Given the description of an element on the screen output the (x, y) to click on. 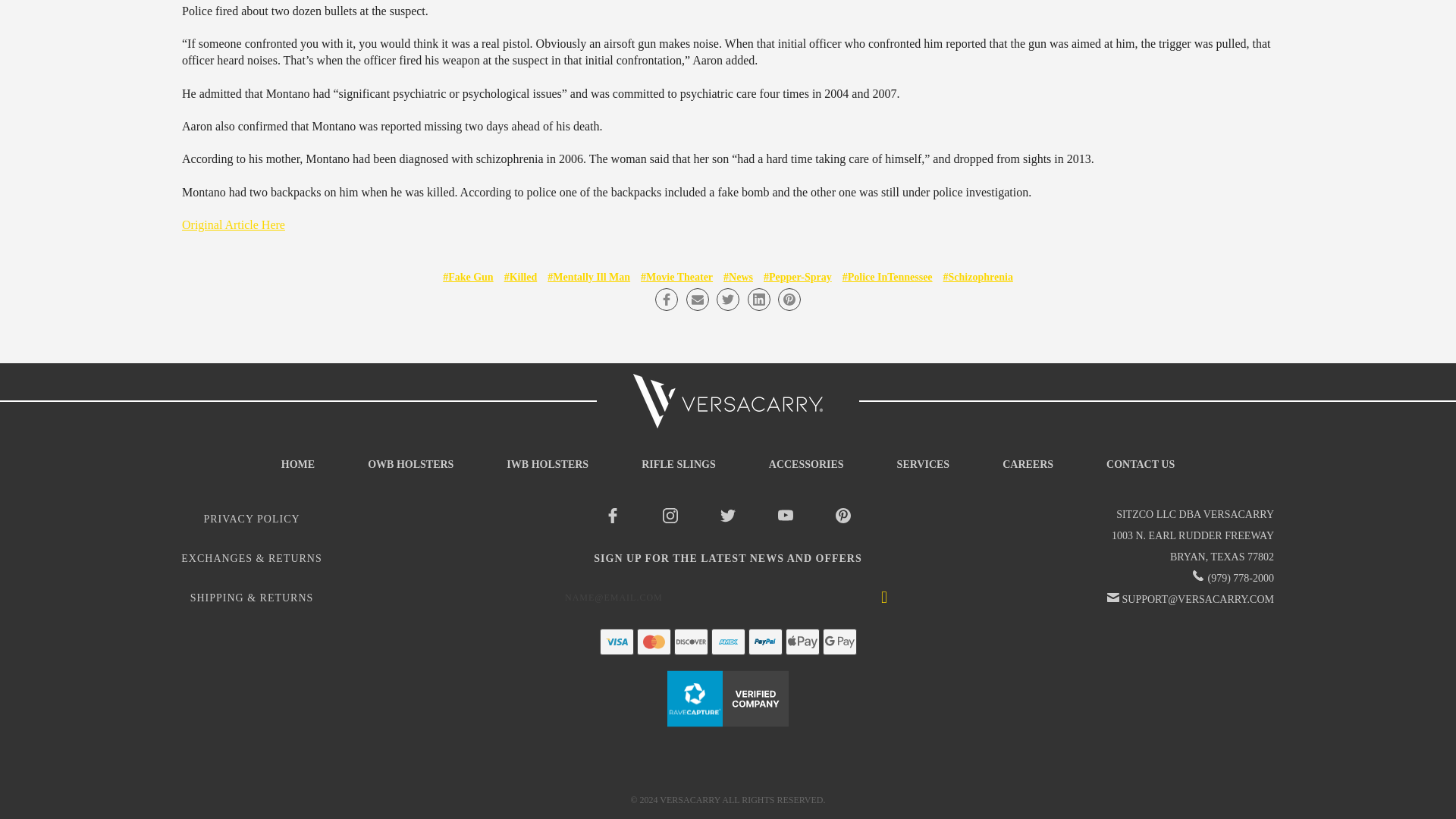
Email (696, 299)
Twitter (727, 299)
Pinterest (788, 299)
Facebook (666, 299)
Versacarry (727, 400)
Linkedin (759, 299)
